Given the description of an element on the screen output the (x, y) to click on. 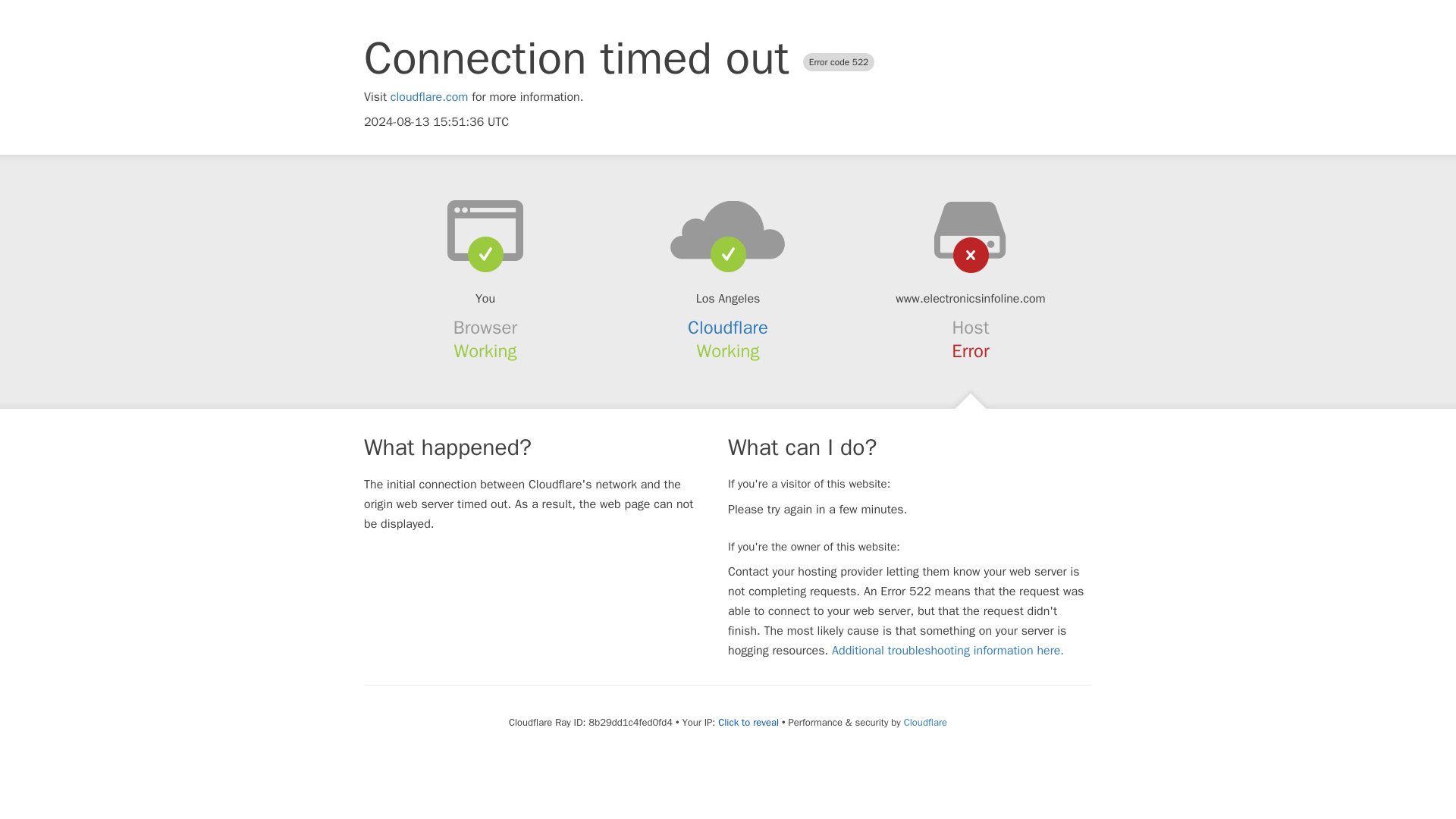
Cloudflare (727, 327)
Cloudflare (925, 721)
cloudflare.com (429, 96)
Click to reveal (747, 722)
Additional troubleshooting information here. (947, 650)
